Given the description of an element on the screen output the (x, y) to click on. 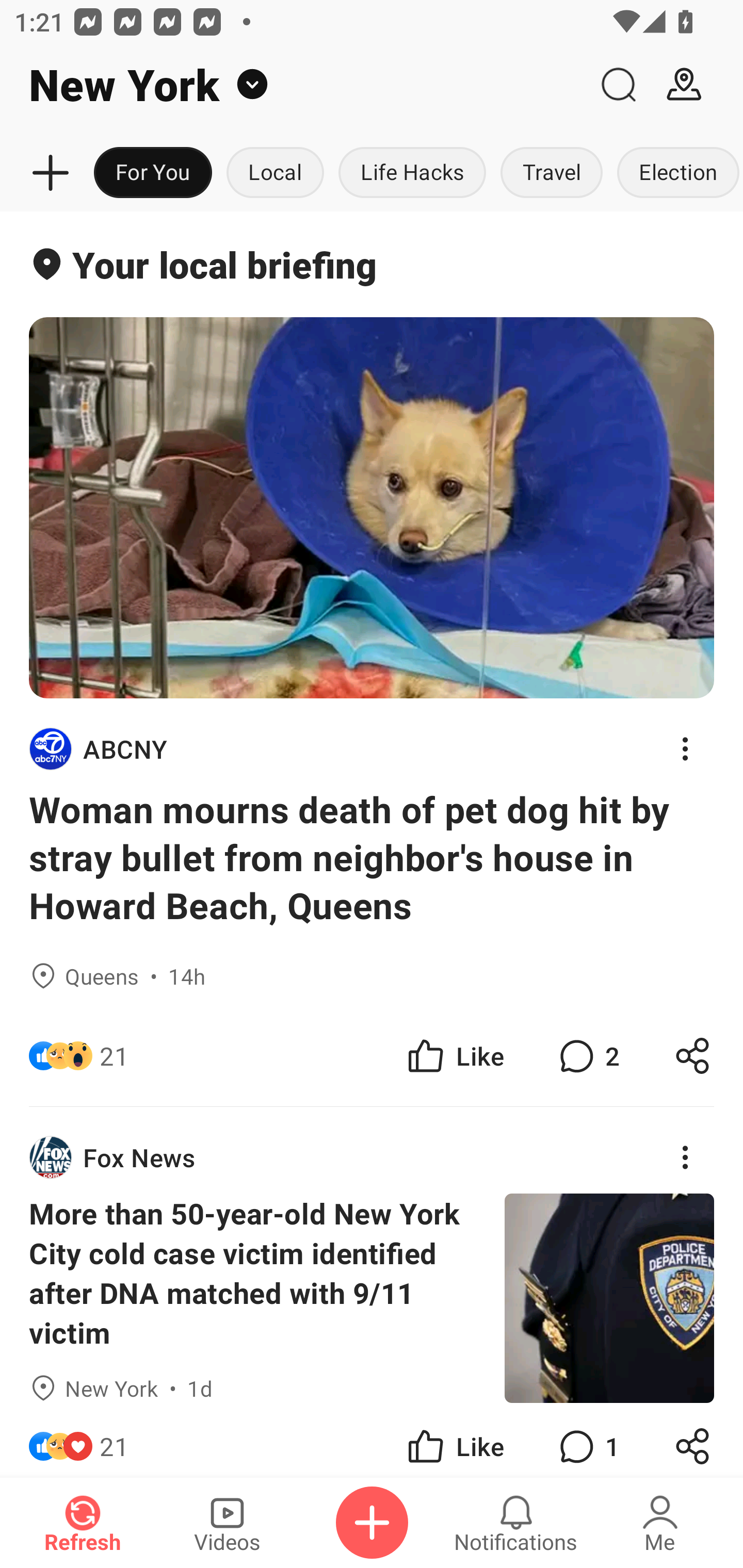
New York (292, 84)
For You (152, 172)
Local (275, 172)
Life Hacks (412, 172)
Travel (551, 172)
Election (676, 172)
21 (114, 1055)
Like (454, 1055)
2 (587, 1055)
21 (114, 1440)
Like (454, 1440)
1 (587, 1440)
Videos (227, 1522)
Notifications (516, 1522)
Me (659, 1522)
